Given the description of an element on the screen output the (x, y) to click on. 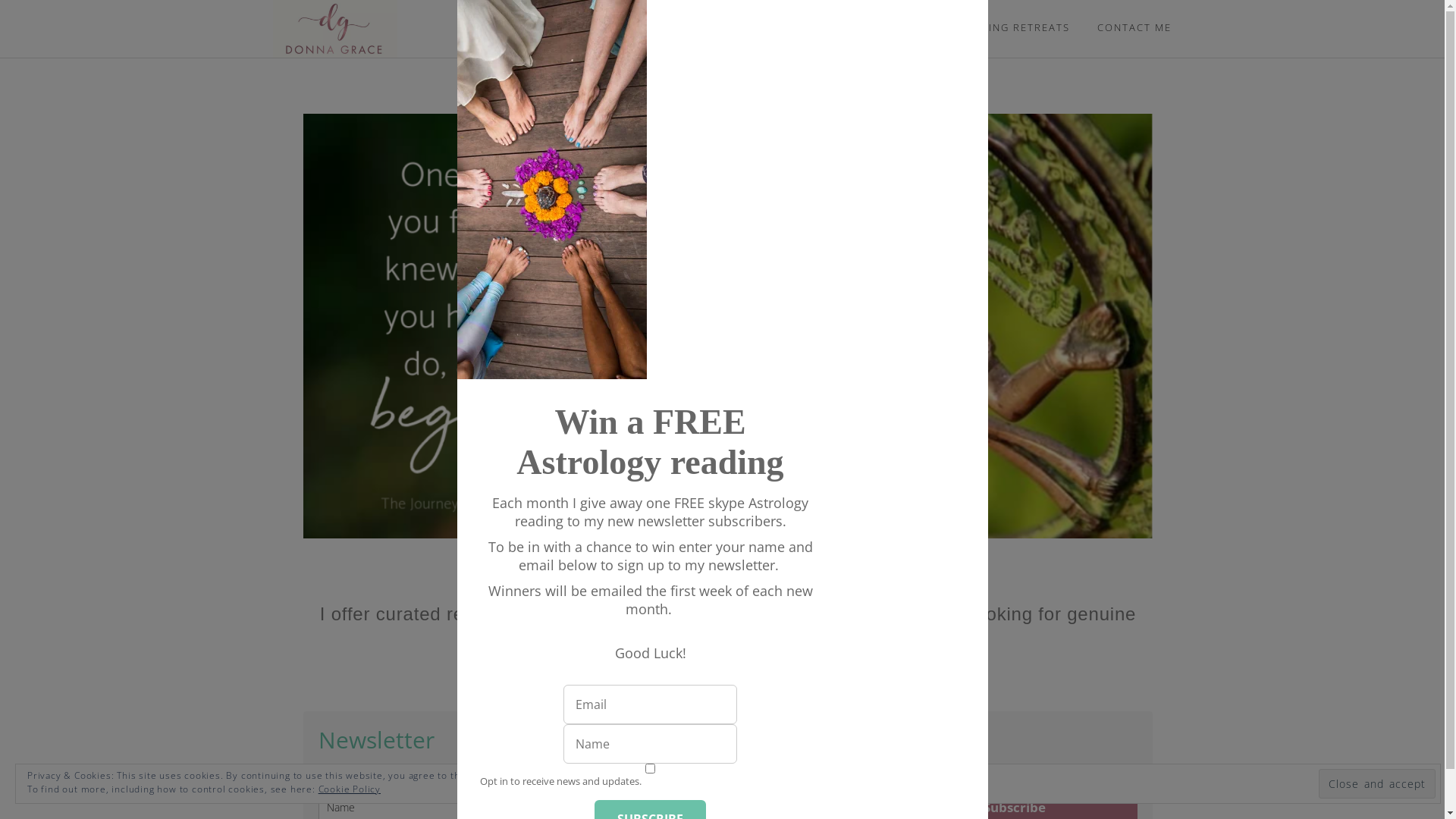
COACHING Element type: text (744, 27)
ABOUT ME Element type: text (656, 27)
HEALING RETREATS Element type: text (1014, 27)
Skip to primary navigation Element type: text (0, 0)
Donna Grace Element type: text (409, 28)
Cookie Policy Element type: text (349, 788)
CONTACT ME Element type: text (1134, 27)
ASTROLOGY READINGS Element type: text (866, 27)
HOME Element type: text (582, 28)
Close and accept Element type: text (1376, 783)
